Given the description of an element on the screen output the (x, y) to click on. 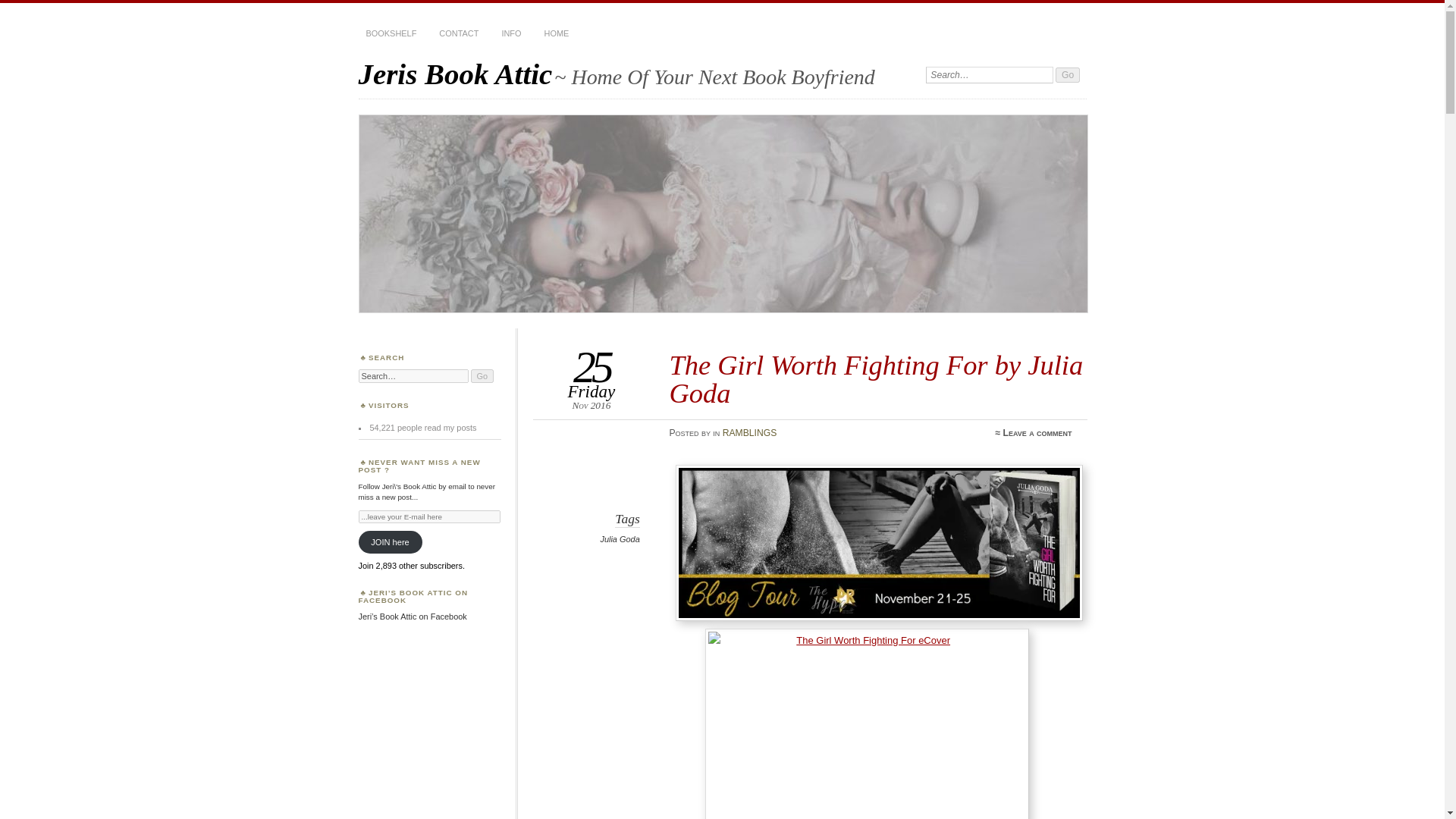
Go (1067, 74)
Jeris Book Attic (454, 73)
Julia Goda (619, 538)
BOOKSHELF (390, 33)
Leave a comment (1037, 432)
Go (482, 376)
HOME (556, 33)
Jeris Book Attic (454, 73)
INFO (510, 33)
RAMBLINGS (749, 432)
CONTACT (458, 33)
Go (1067, 74)
